Given the description of an element on the screen output the (x, y) to click on. 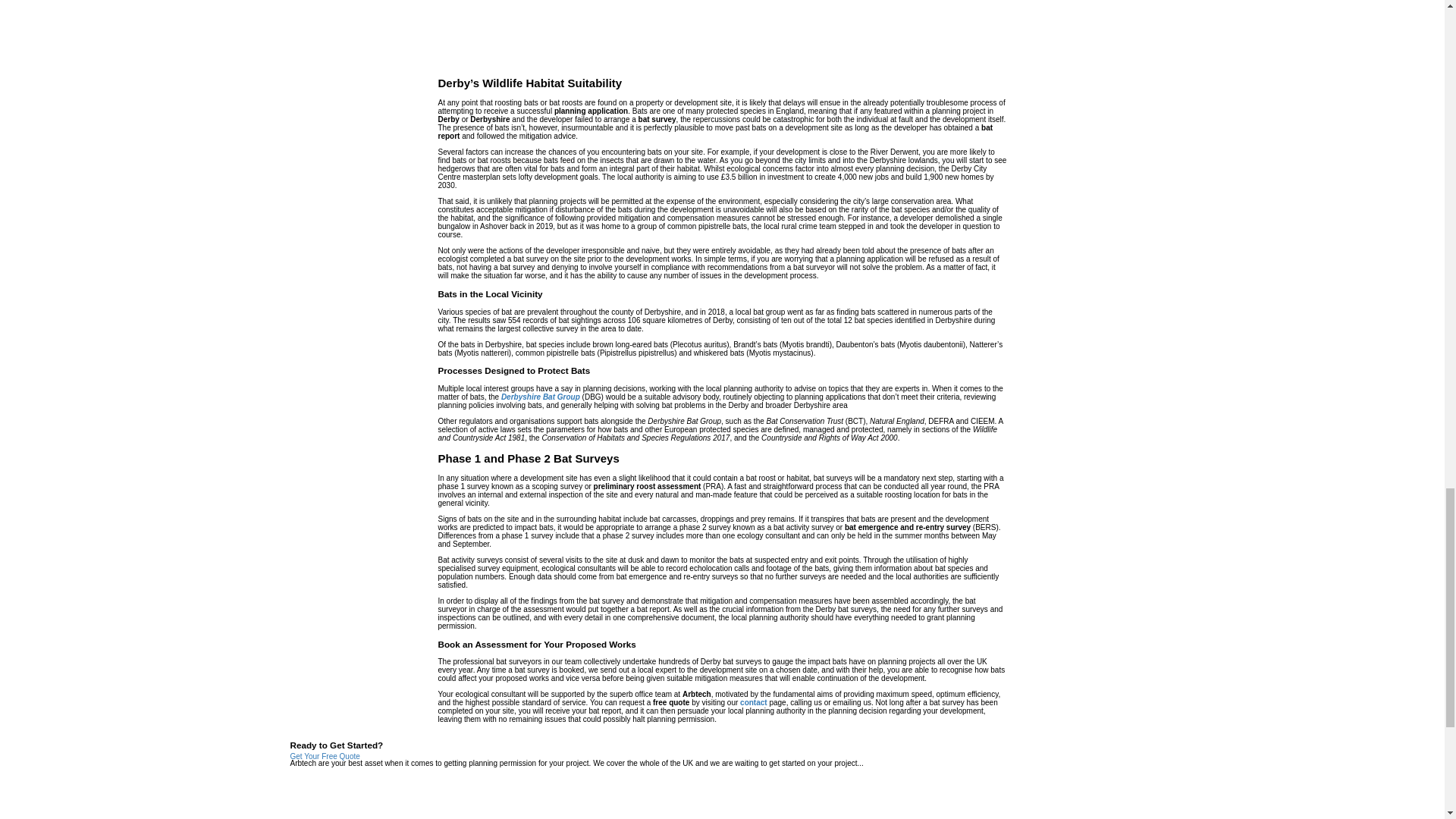
Derbyshire Bat Group (539, 397)
contact (753, 702)
Get Your Free Quote (324, 756)
